Given the description of an element on the screen output the (x, y) to click on. 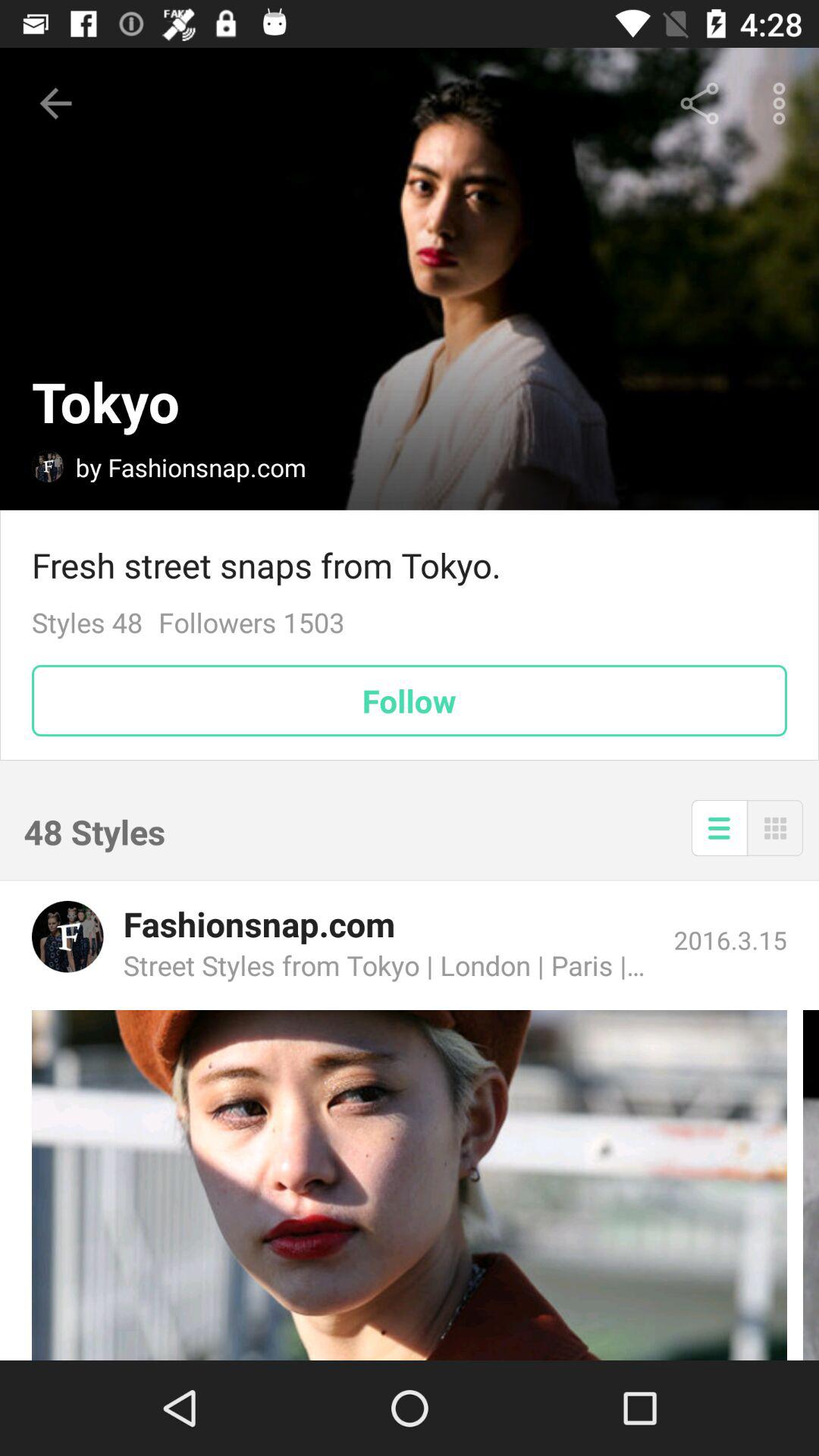
press the icon above 48 styles item (409, 700)
